Given the description of an element on the screen output the (x, y) to click on. 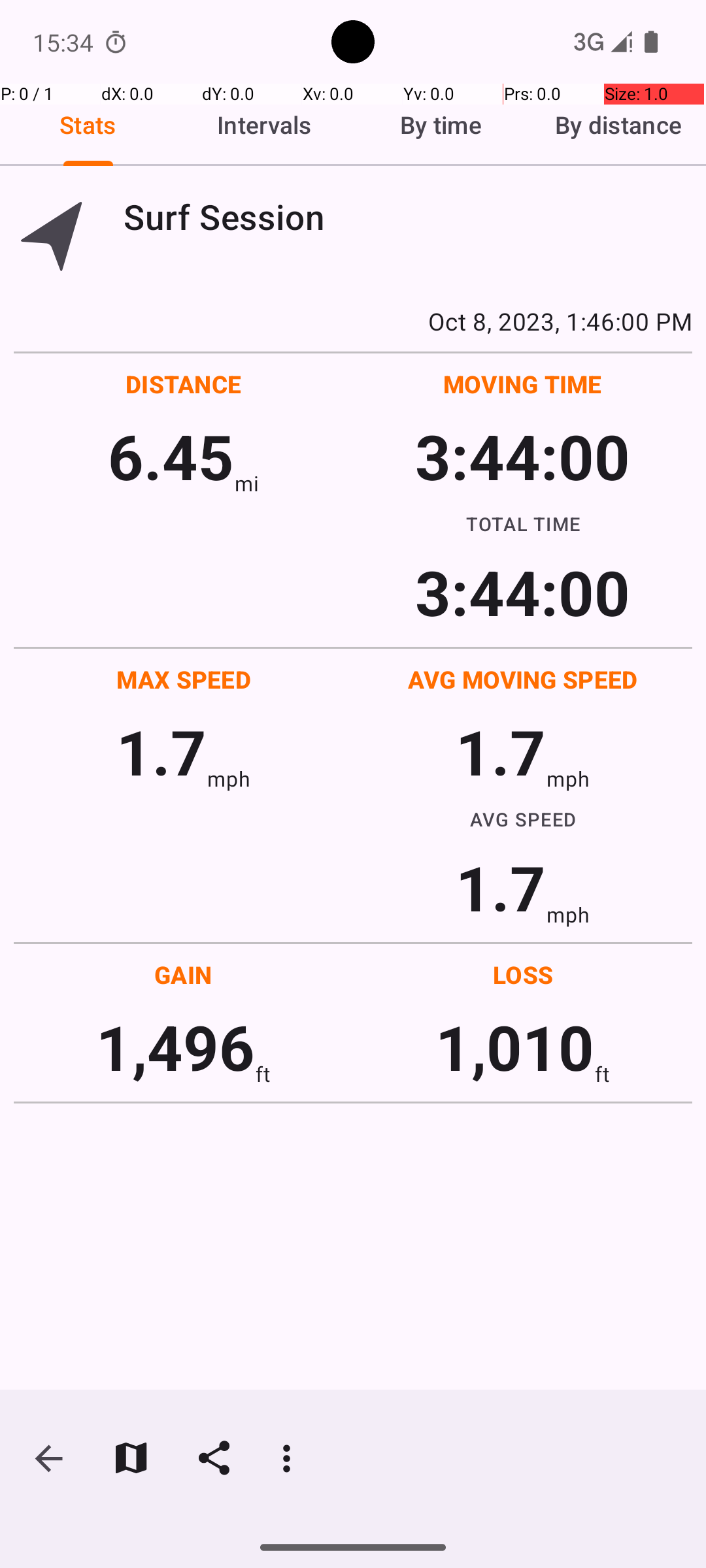
Surf Session Element type: android.widget.TextView (407, 216)
Oct 8, 2023, 1:46:00 PM Element type: android.widget.TextView (352, 320)
6.45 Element type: android.widget.TextView (170, 455)
3:44:00 Element type: android.widget.TextView (522, 455)
1.7 Element type: android.widget.TextView (161, 750)
1,496 Element type: android.widget.TextView (175, 1045)
1,010 Element type: android.widget.TextView (514, 1045)
